Given the description of an element on the screen output the (x, y) to click on. 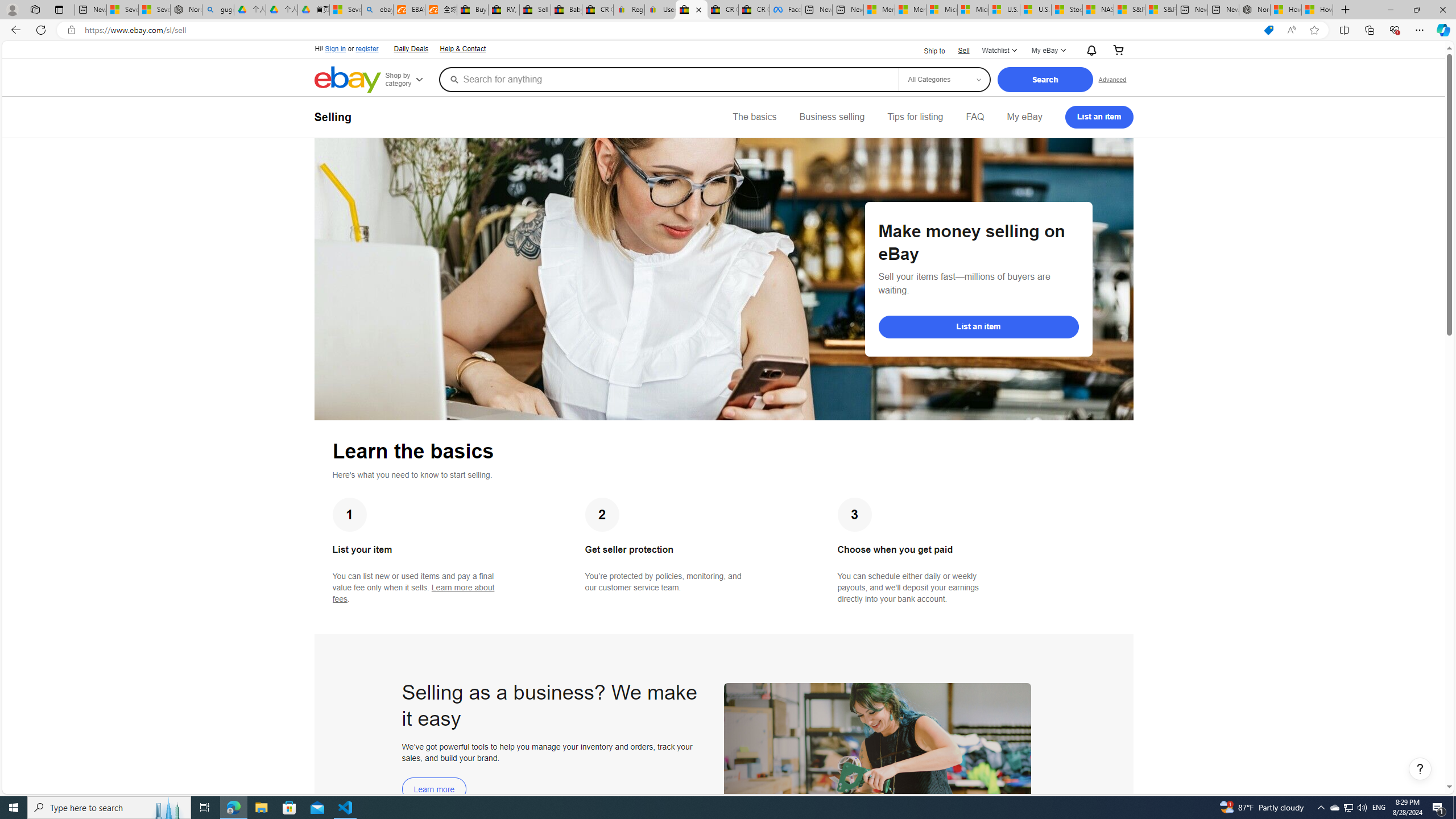
Tips for listing (914, 116)
My eBay (1024, 116)
My eBay (1024, 116)
Advanced Search (1112, 78)
AutomationID: gh-eb-Alerts (1090, 49)
FAQ (974, 116)
Buy Auto Parts & Accessories | eBay (472, 9)
Selling on eBay | Electronics, Fashion, Home & Garden | eBay (691, 9)
